Given the description of an element on the screen output the (x, y) to click on. 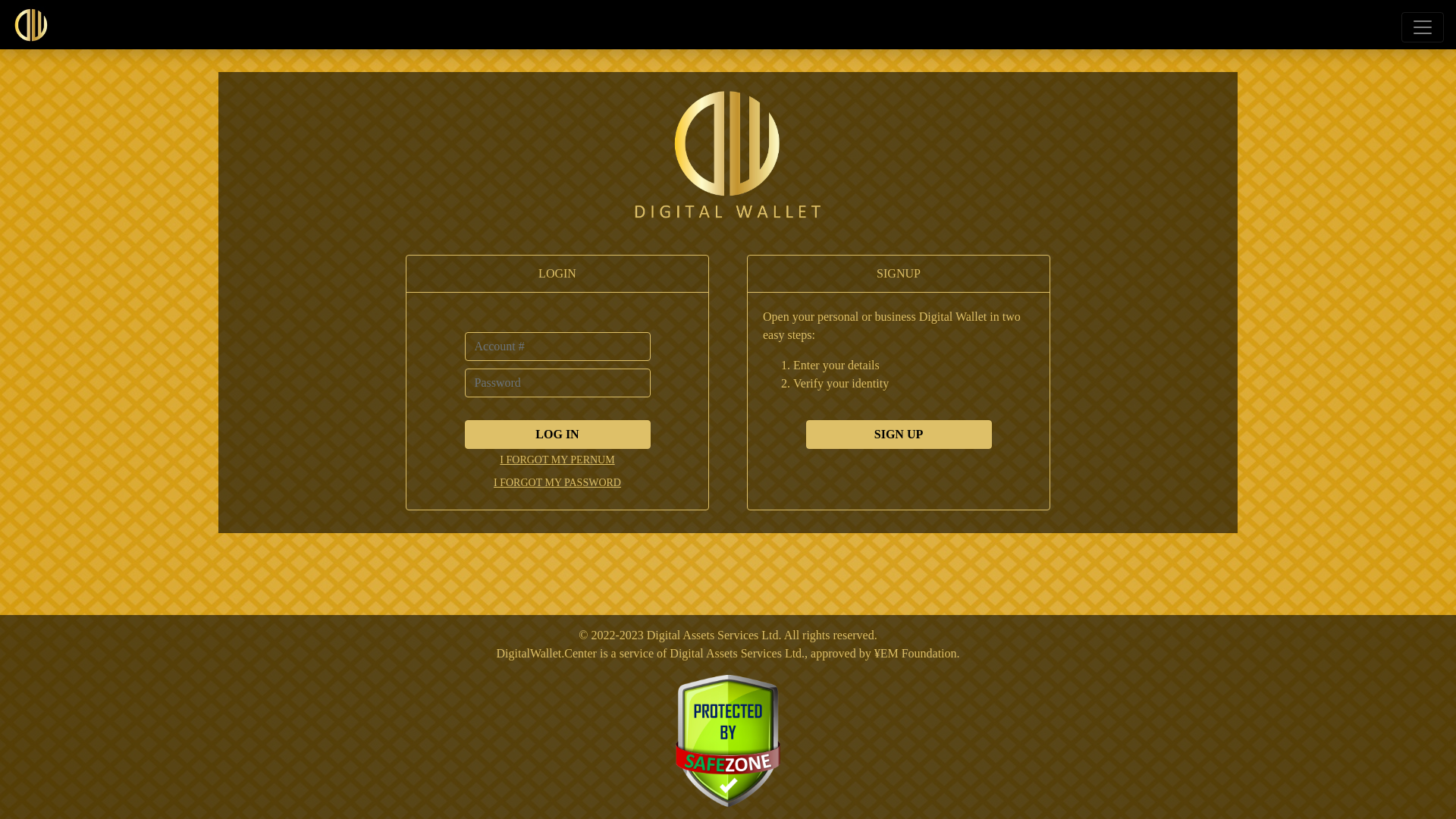
LOG IN Element type: text (556, 434)
SIGN UP Element type: text (898, 434)
I FORGOT MY PERNUM Element type: text (556, 459)
I FORGOT MY PASSWORD Element type: text (557, 482)
